Given the description of an element on the screen output the (x, y) to click on. 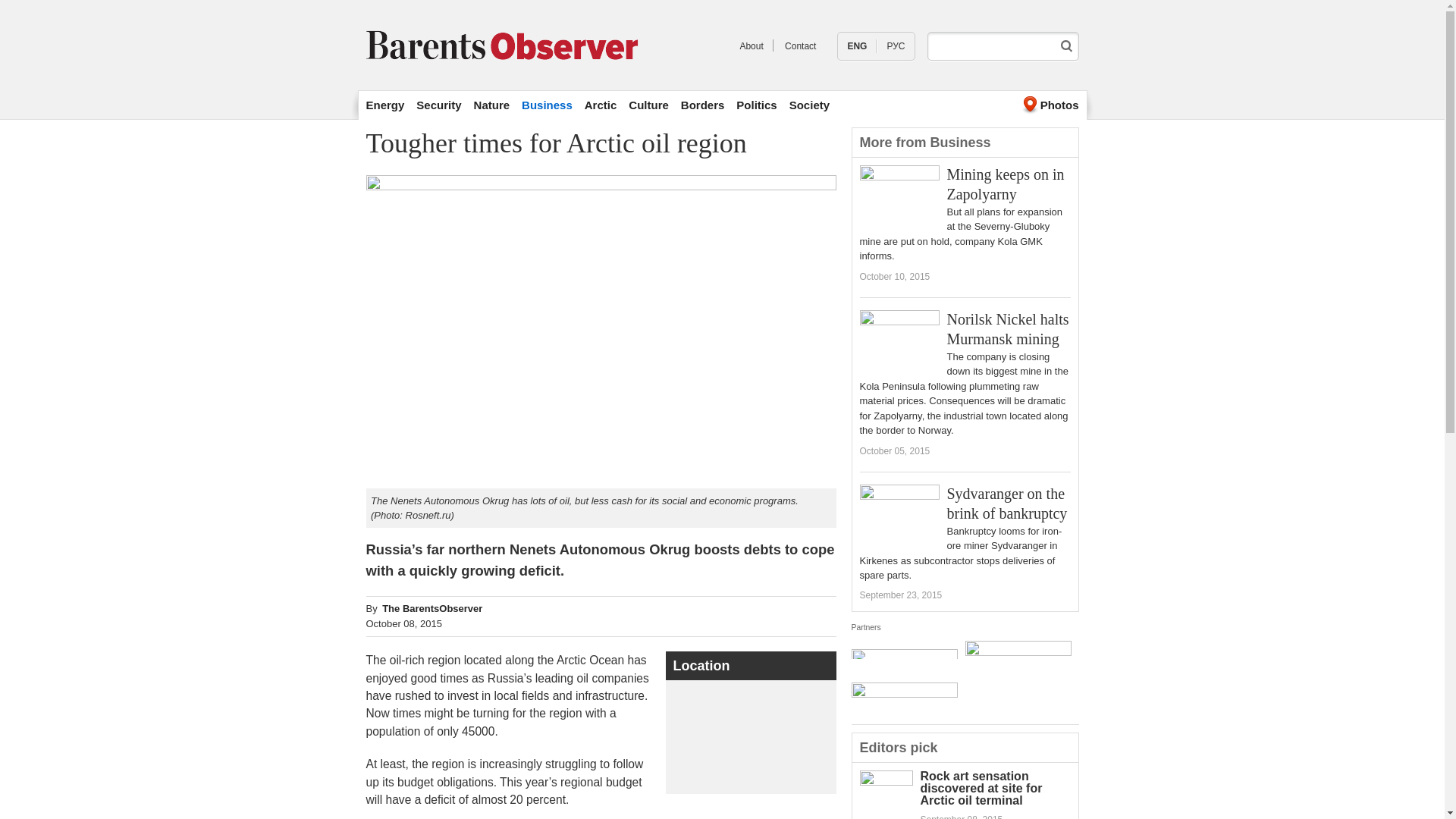
Norilsk Nickel halts Murmansk mining (1007, 329)
Energy (384, 104)
Mining keeps on in Zapolyarny (1005, 184)
About (751, 45)
Search (1066, 46)
Contact (800, 45)
Skip to main content (685, 1)
Business (546, 104)
Security (438, 104)
